Given the description of an element on the screen output the (x, y) to click on. 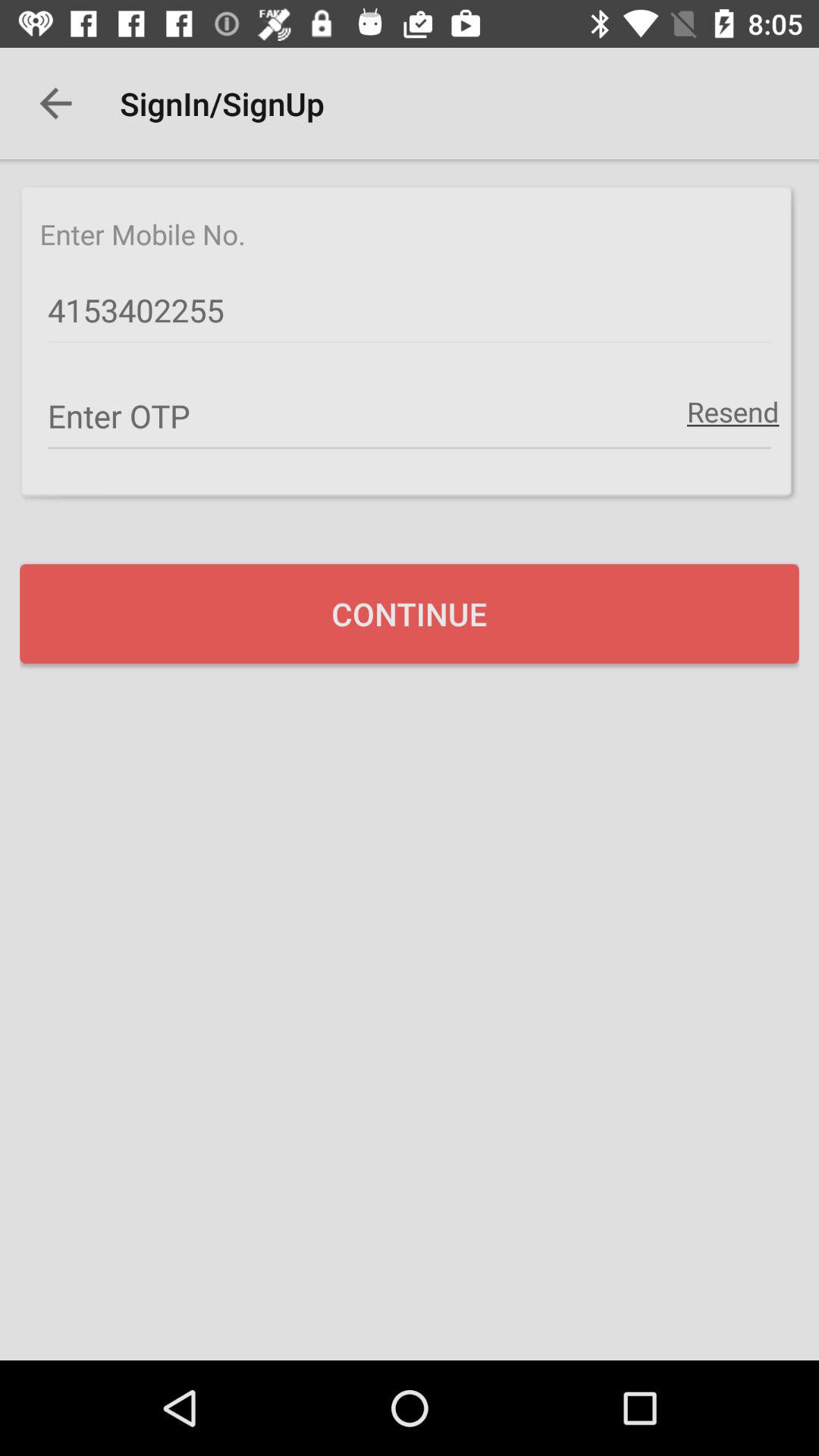
jump to 4153402255 (409, 310)
